Given the description of an element on the screen output the (x, y) to click on. 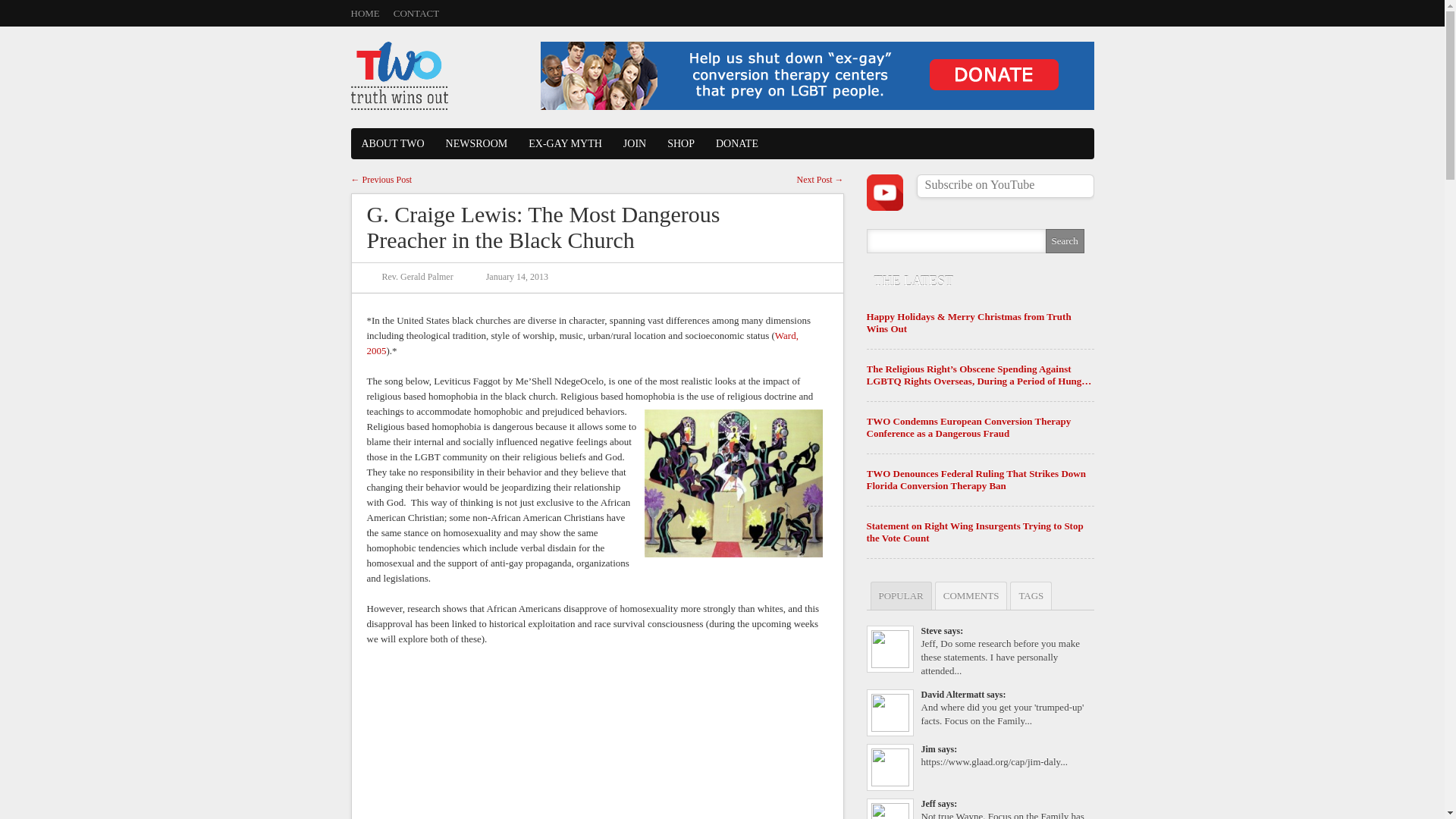
CONTACT (416, 12)
NEWSROOM (476, 142)
Posts by Rev. Gerald Palmer (416, 276)
Search (1064, 241)
SHOP (680, 142)
Ward, 2005 (581, 343)
Search (1064, 241)
DONATE (736, 142)
HOME (364, 12)
YouTube video player (594, 740)
JOIN (634, 142)
